Given the description of an element on the screen output the (x, y) to click on. 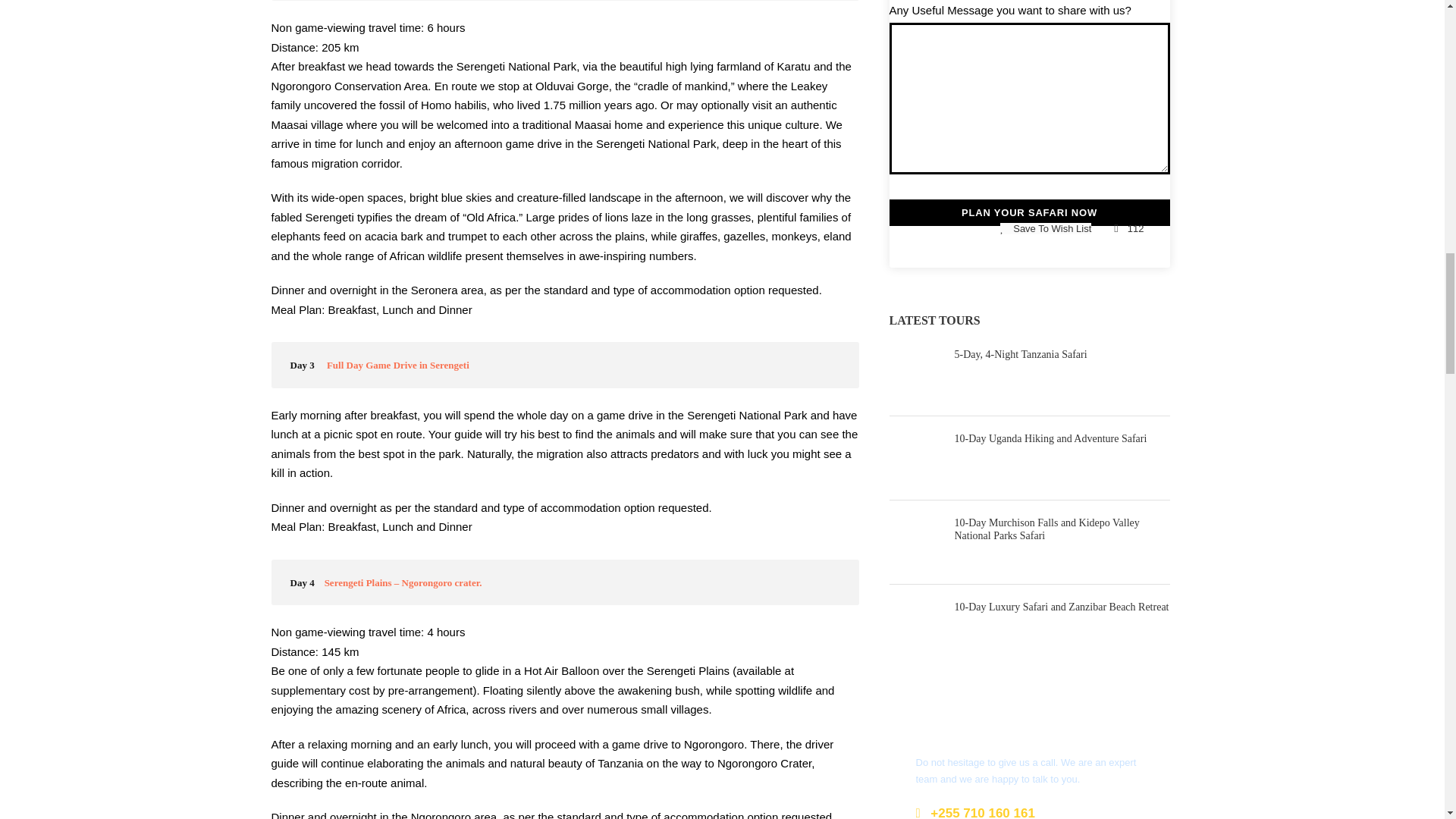
PLAN YOUR SAFARI NOW (1028, 212)
